Given the description of an element on the screen output the (x, y) to click on. 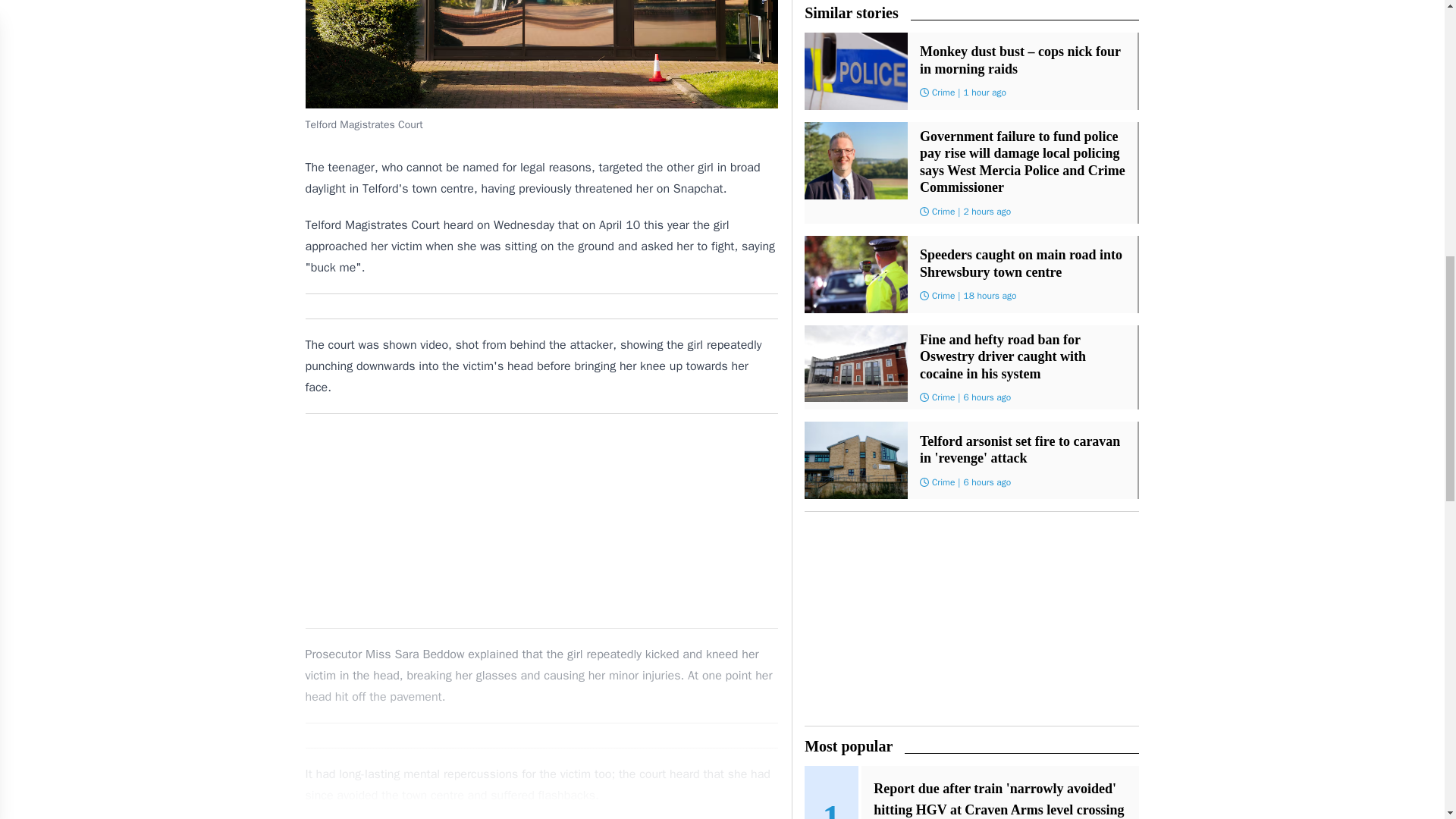
Crime (943, 397)
Crime (943, 211)
Crime (943, 481)
Crime (943, 92)
Crime (943, 295)
